Given the description of an element on the screen output the (x, y) to click on. 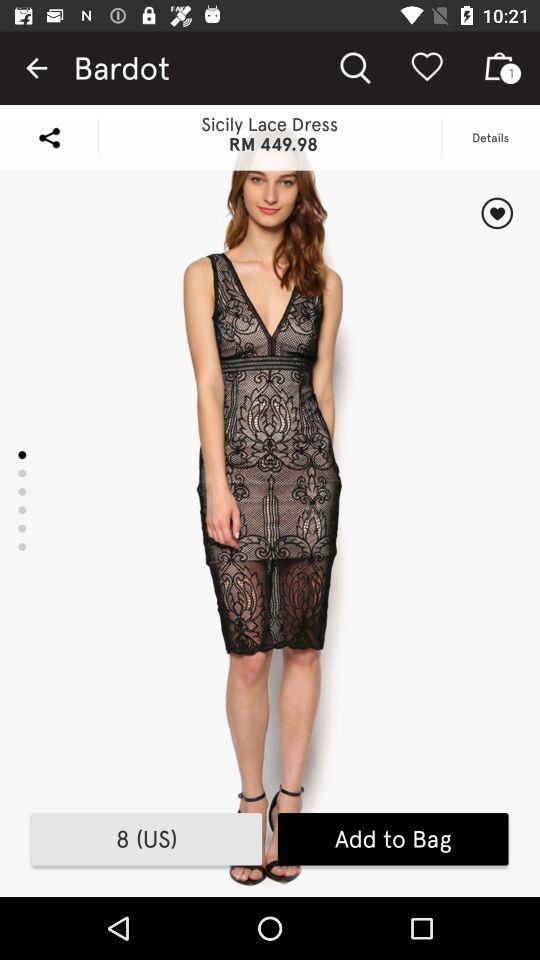
details (496, 213)
